Given the description of an element on the screen output the (x, y) to click on. 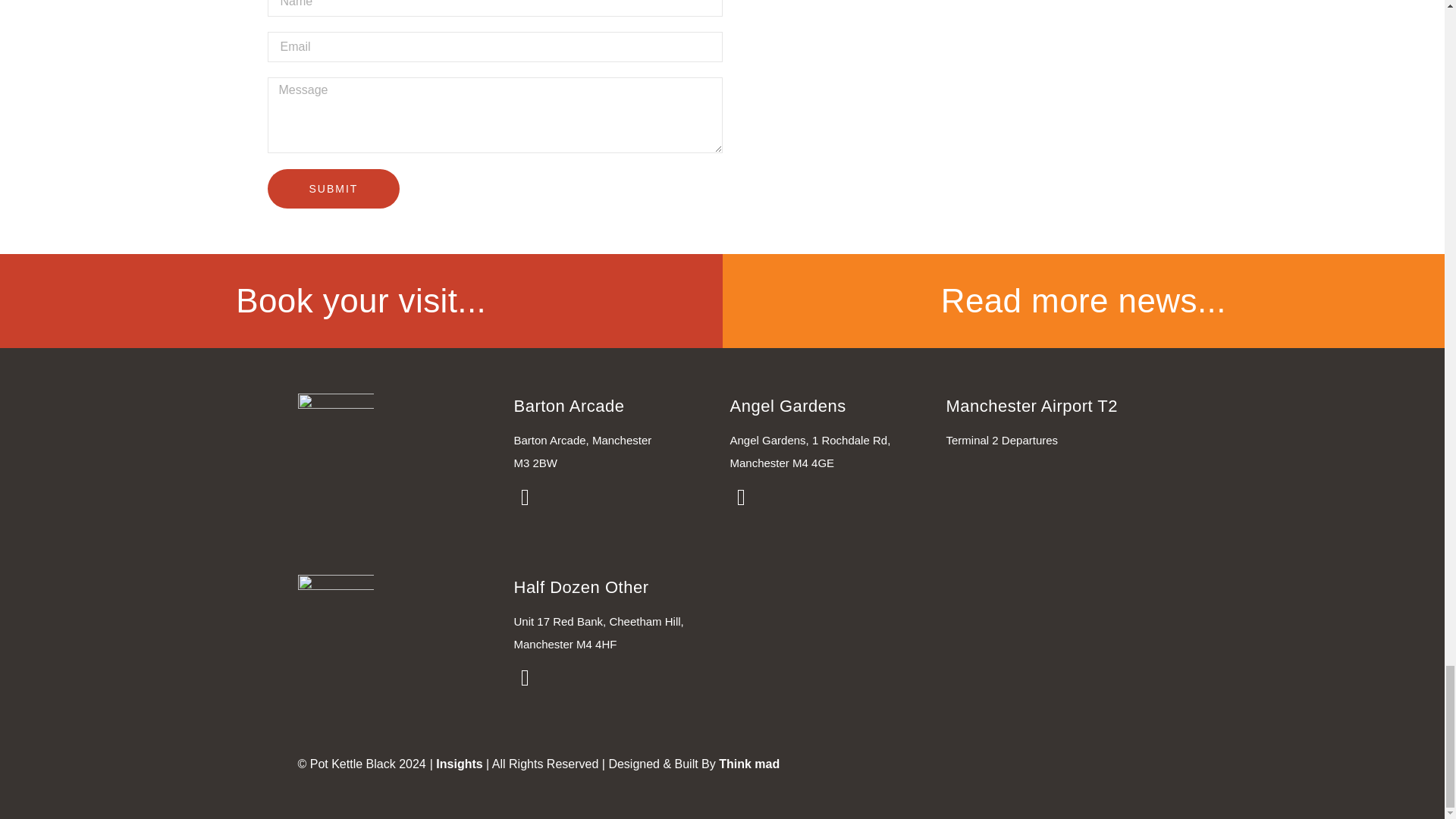
Insights (458, 763)
SUBMIT (332, 188)
Think mad (748, 763)
Book your visit... (360, 300)
Read more news... (1082, 300)
